Given the description of an element on the screen output the (x, y) to click on. 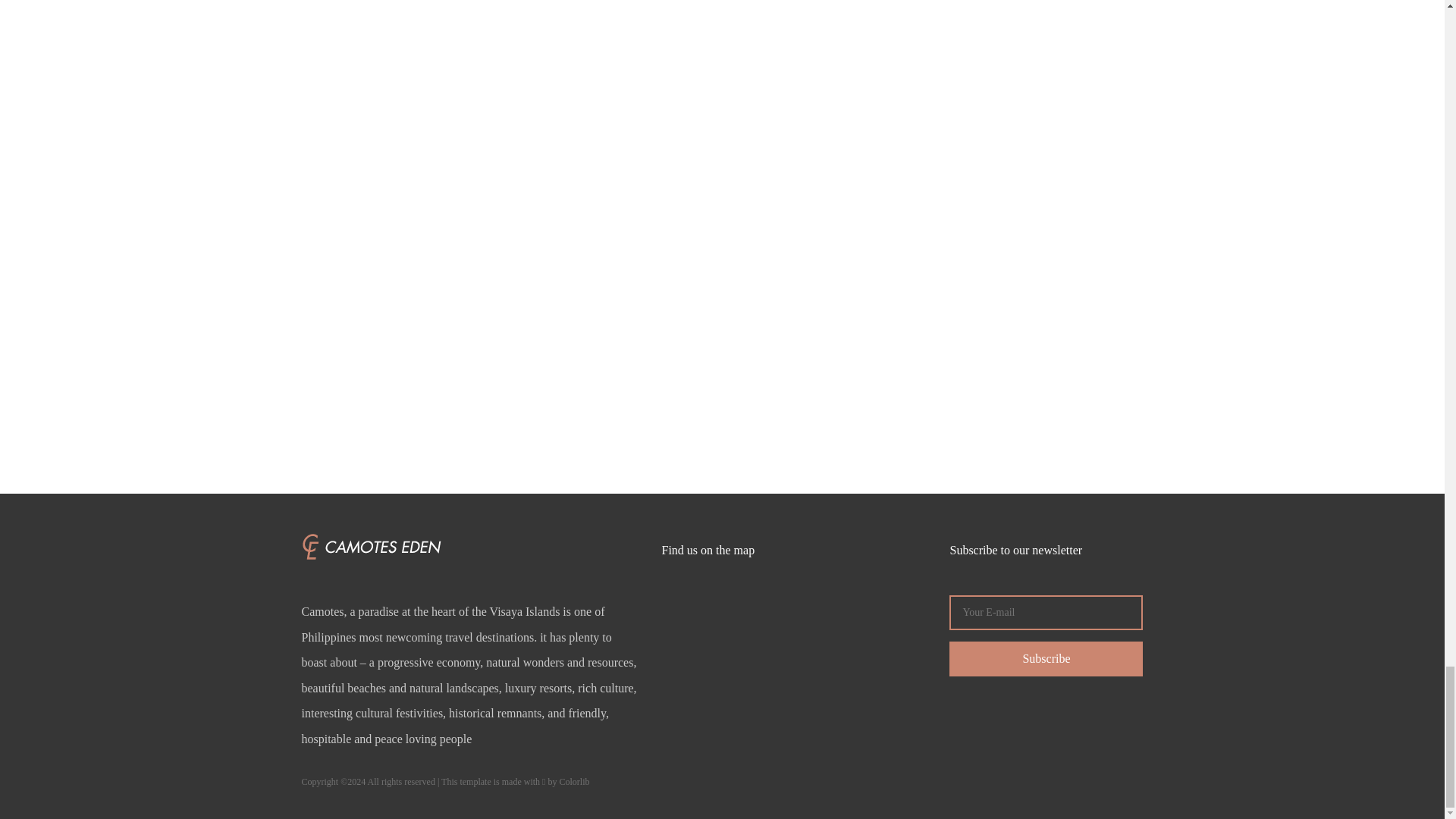
Subscribe (1045, 658)
Colorlib (574, 781)
